Given the description of an element on the screen output the (x, y) to click on. 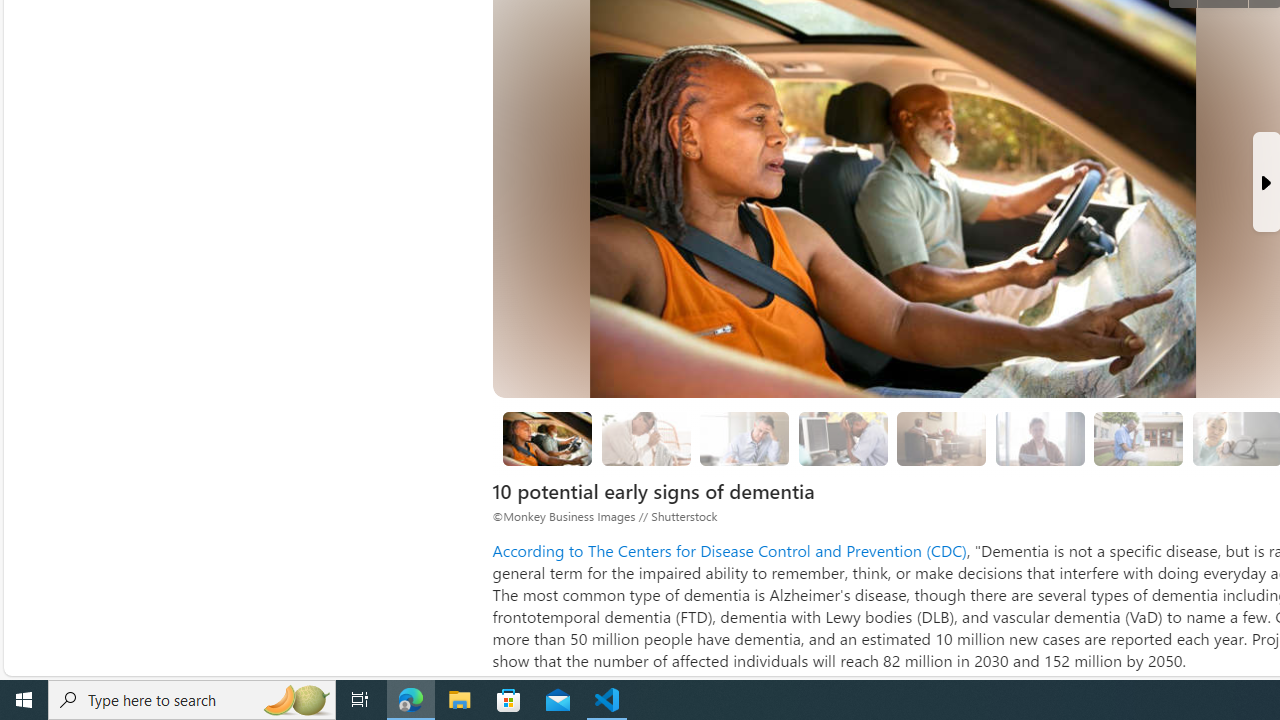
New problems with words in speaking or writing (1138, 439)
